Given the description of an element on the screen output the (x, y) to click on. 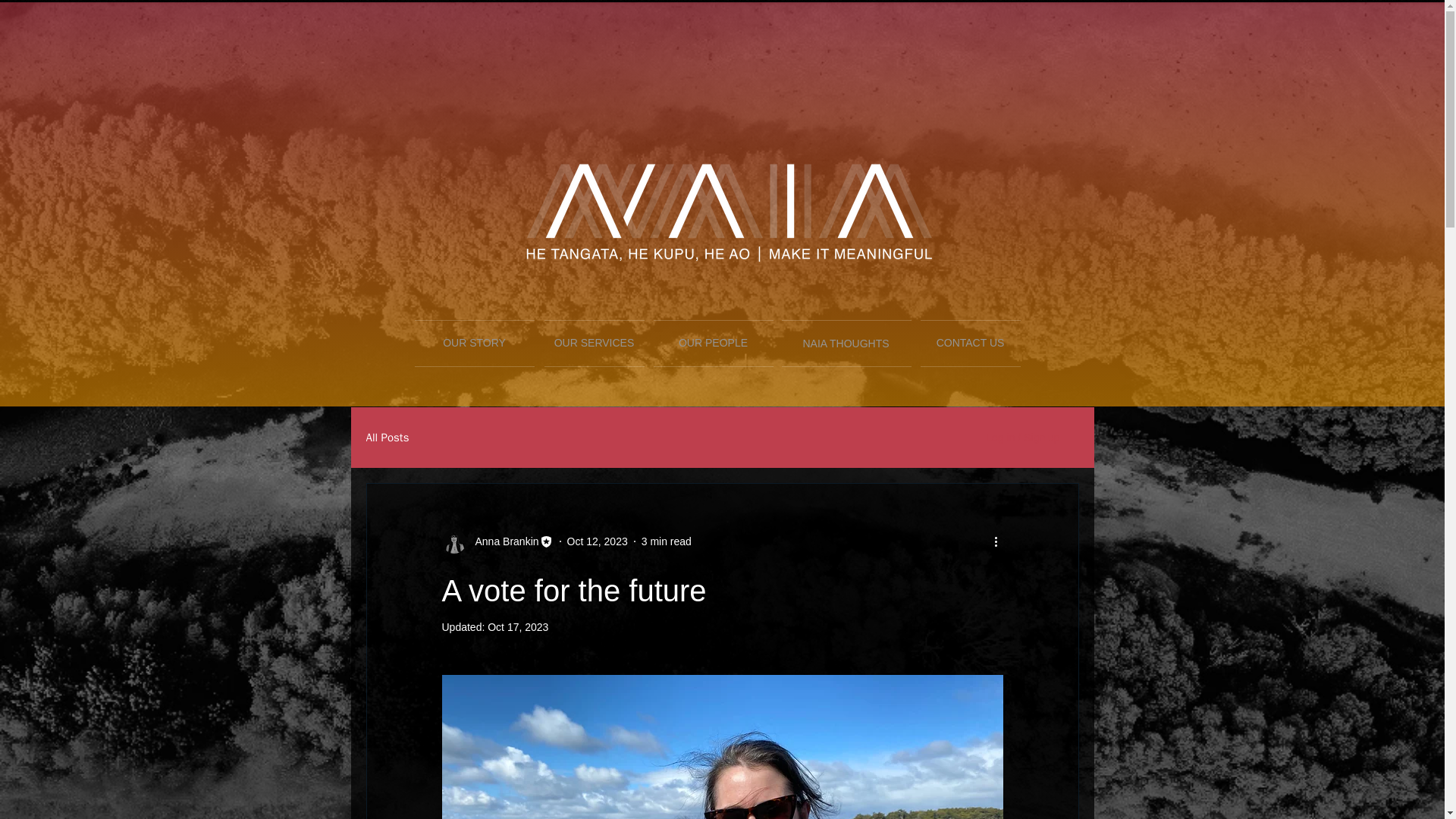
3 min read (666, 541)
Oct 12, 2023 (597, 541)
Anna Brankin (501, 541)
Oct 17, 2023 (517, 626)
All Posts (387, 437)
